Given the description of an element on the screen output the (x, y) to click on. 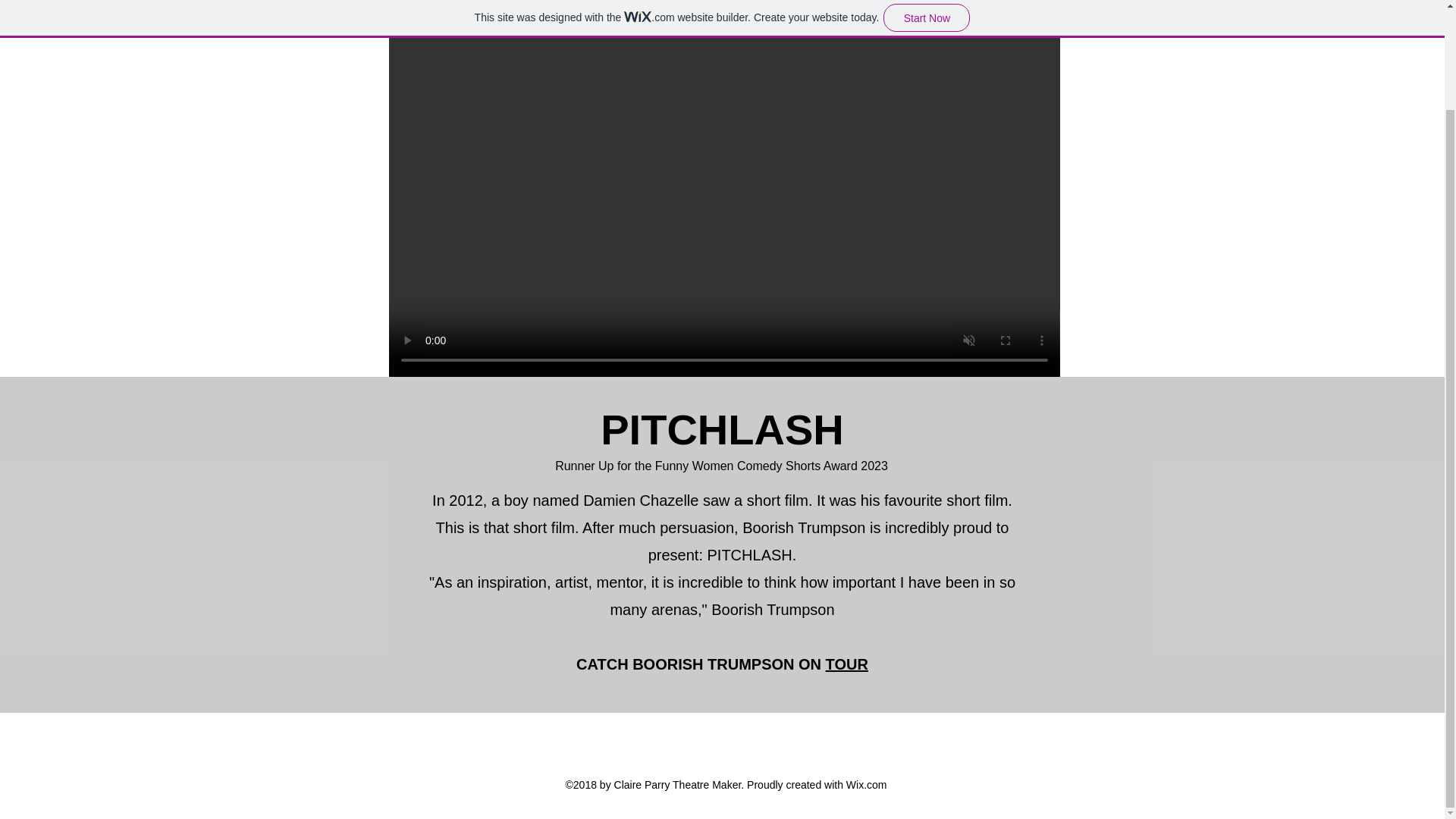
TOUR (846, 664)
